Given the description of an element on the screen output the (x, y) to click on. 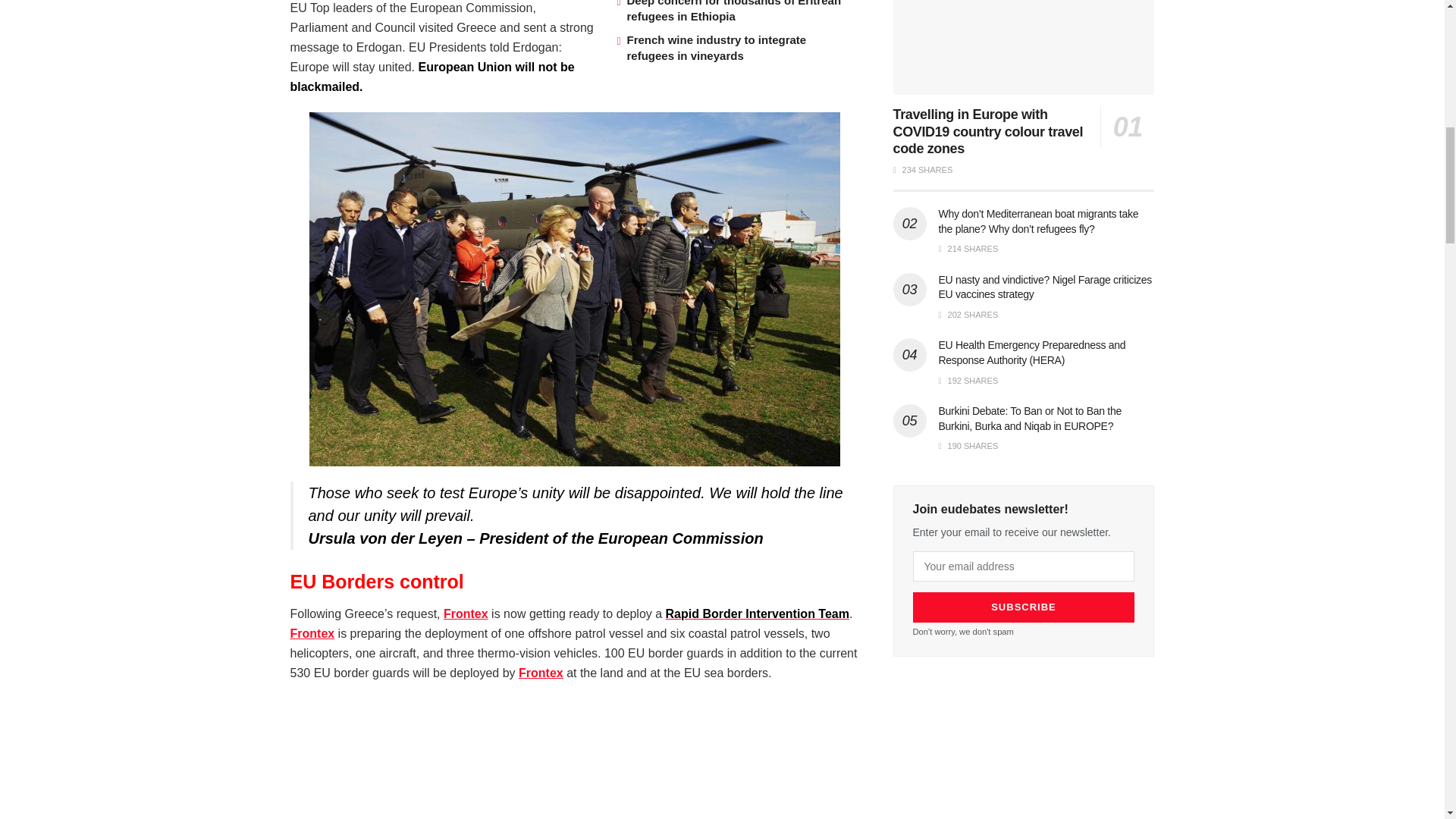
French wine industry to integrate refugees in vineyards (716, 47)
Subscribe (1023, 607)
Frontex (540, 672)
Frontex (311, 633)
Rapid Border Intervention Team (756, 613)
Frontex (465, 613)
Deep concern for thousands of Eritrean refugees in Ethiopia (733, 11)
